Given the description of an element on the screen output the (x, y) to click on. 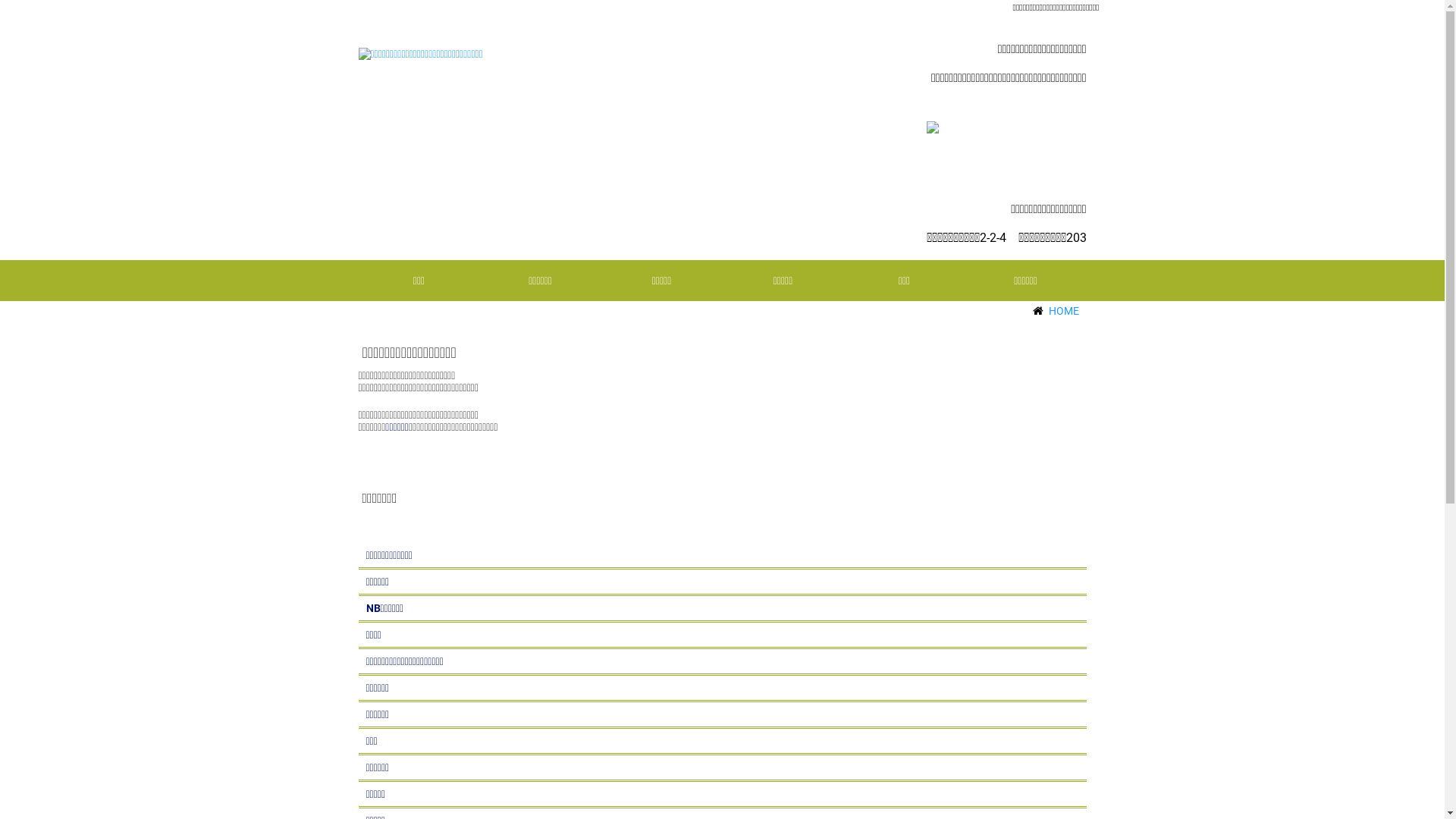
HOME Element type: text (1063, 310)
